Given the description of an element on the screen output the (x, y) to click on. 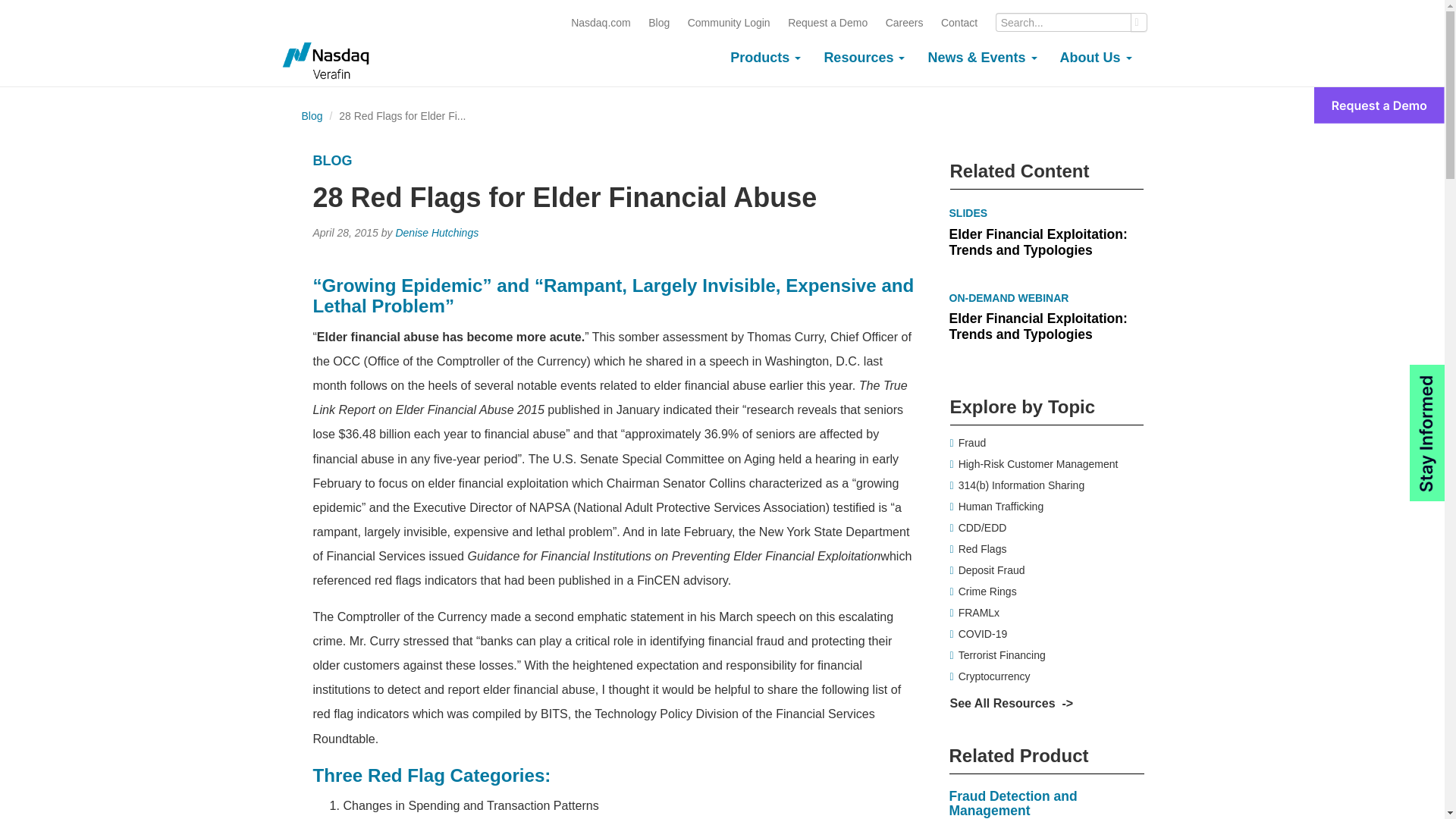
Products (765, 58)
Community Login (728, 22)
Contact (958, 22)
Request a Demo (827, 22)
Products (765, 58)
Careers (904, 22)
About Us (1095, 58)
Nasdaq.com (600, 22)
Resources (863, 58)
Blog (658, 22)
